Given the description of an element on the screen output the (x, y) to click on. 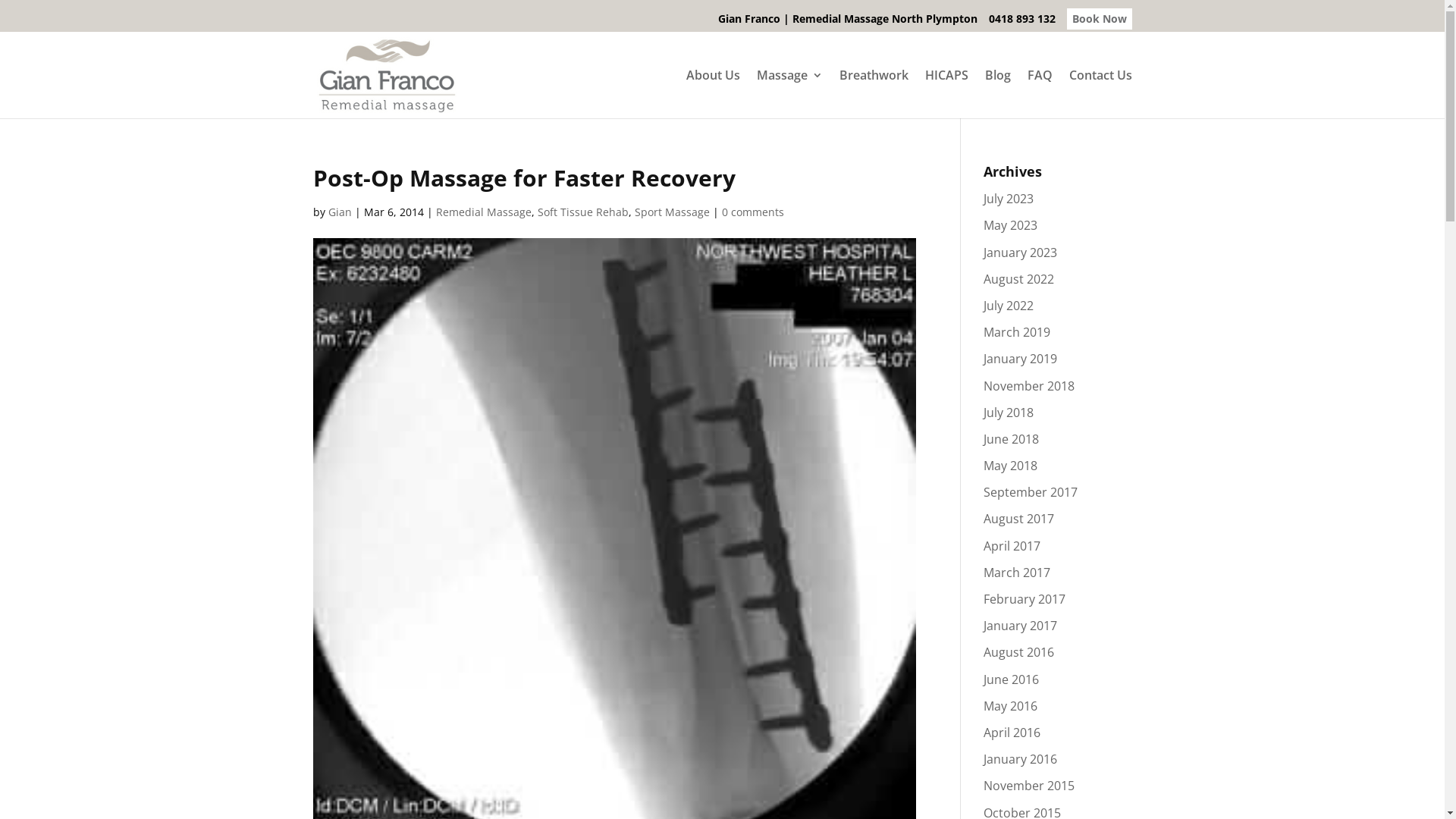
June 2018 Element type: text (1010, 438)
April 2017 Element type: text (1011, 545)
July 2022 Element type: text (1008, 305)
Book Now Element type: text (1098, 17)
February 2017 Element type: text (1024, 598)
January 2016 Element type: text (1020, 758)
June 2016 Element type: text (1010, 679)
Sport Massage Element type: text (671, 211)
August 2017 Element type: text (1018, 518)
November 2015 Element type: text (1028, 785)
March 2019 Element type: text (1016, 331)
January 2017 Element type: text (1020, 625)
Massage Element type: text (789, 93)
HICAPS Element type: text (946, 93)
Breathwork Element type: text (872, 93)
May 2023 Element type: text (1010, 224)
March 2017 Element type: text (1016, 572)
July 2023 Element type: text (1008, 198)
May 2016 Element type: text (1010, 705)
Soft Tissue Rehab Element type: text (581, 211)
September 2017 Element type: text (1030, 491)
Contact Us Element type: text (1100, 93)
0 comments Element type: text (752, 211)
Gian Element type: text (339, 211)
November 2018 Element type: text (1028, 385)
April 2016 Element type: text (1011, 732)
Remedial Massage Element type: text (482, 211)
May 2018 Element type: text (1010, 465)
0418 893 132 Element type: text (1021, 22)
August 2016 Element type: text (1018, 651)
August 2022 Element type: text (1018, 278)
Gian Franco | Remedial Massage North Plympton Element type: text (846, 22)
About Us Element type: text (712, 93)
July 2018 Element type: text (1008, 412)
Blog Element type: text (997, 93)
January 2023 Element type: text (1020, 252)
FAQ Element type: text (1038, 93)
January 2019 Element type: text (1020, 358)
